Given the description of an element on the screen output the (x, y) to click on. 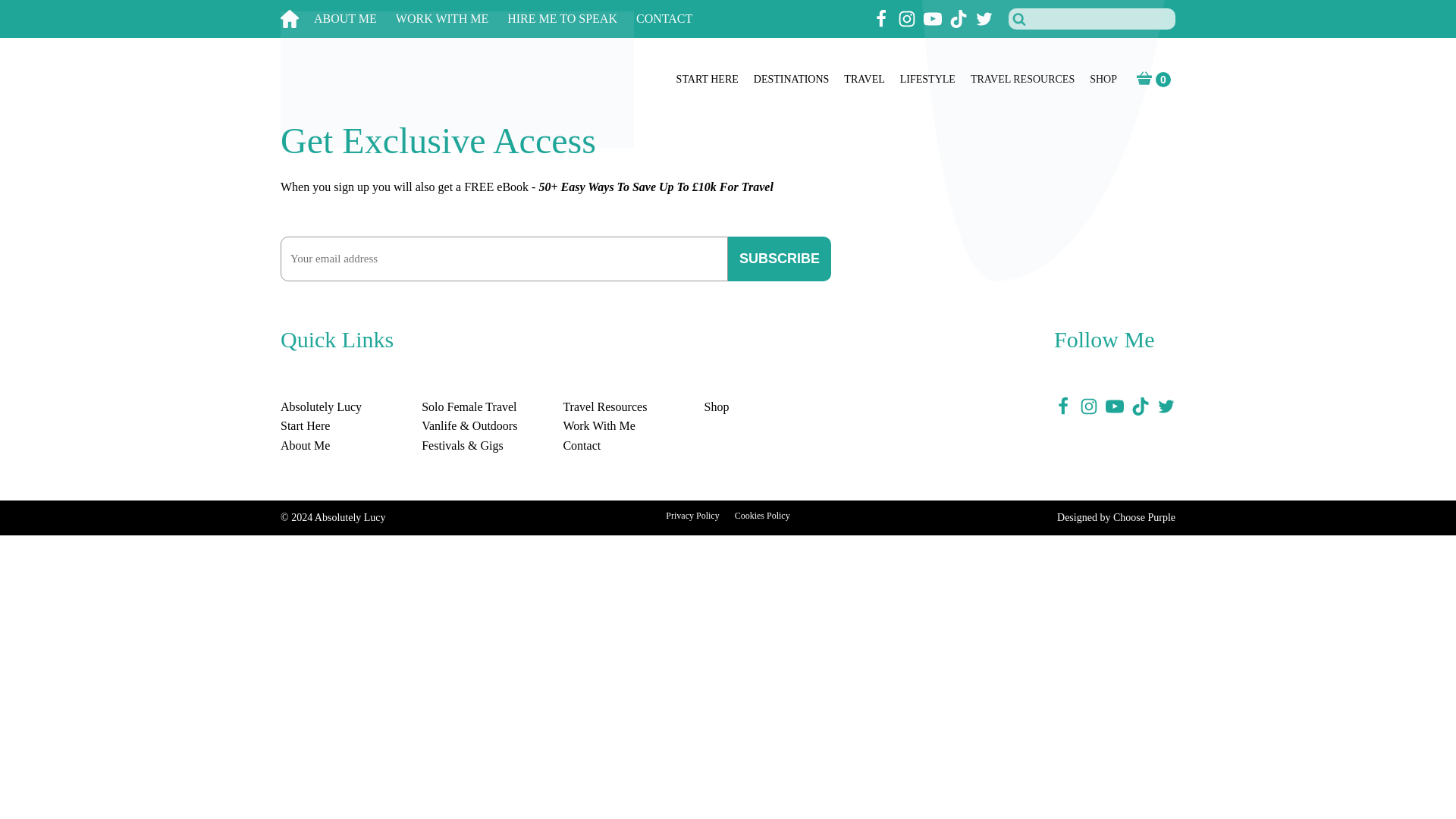
CONTACT (673, 19)
LIFESTYLE (927, 79)
TRAVEL (863, 79)
TRAVEL RESOURCES (1022, 79)
ABOUT ME (355, 19)
DESTINATIONS (791, 79)
WORK WITH ME (451, 19)
SHOP (1102, 79)
Search (31, 13)
START HERE (707, 79)
